Given the description of an element on the screen output the (x, y) to click on. 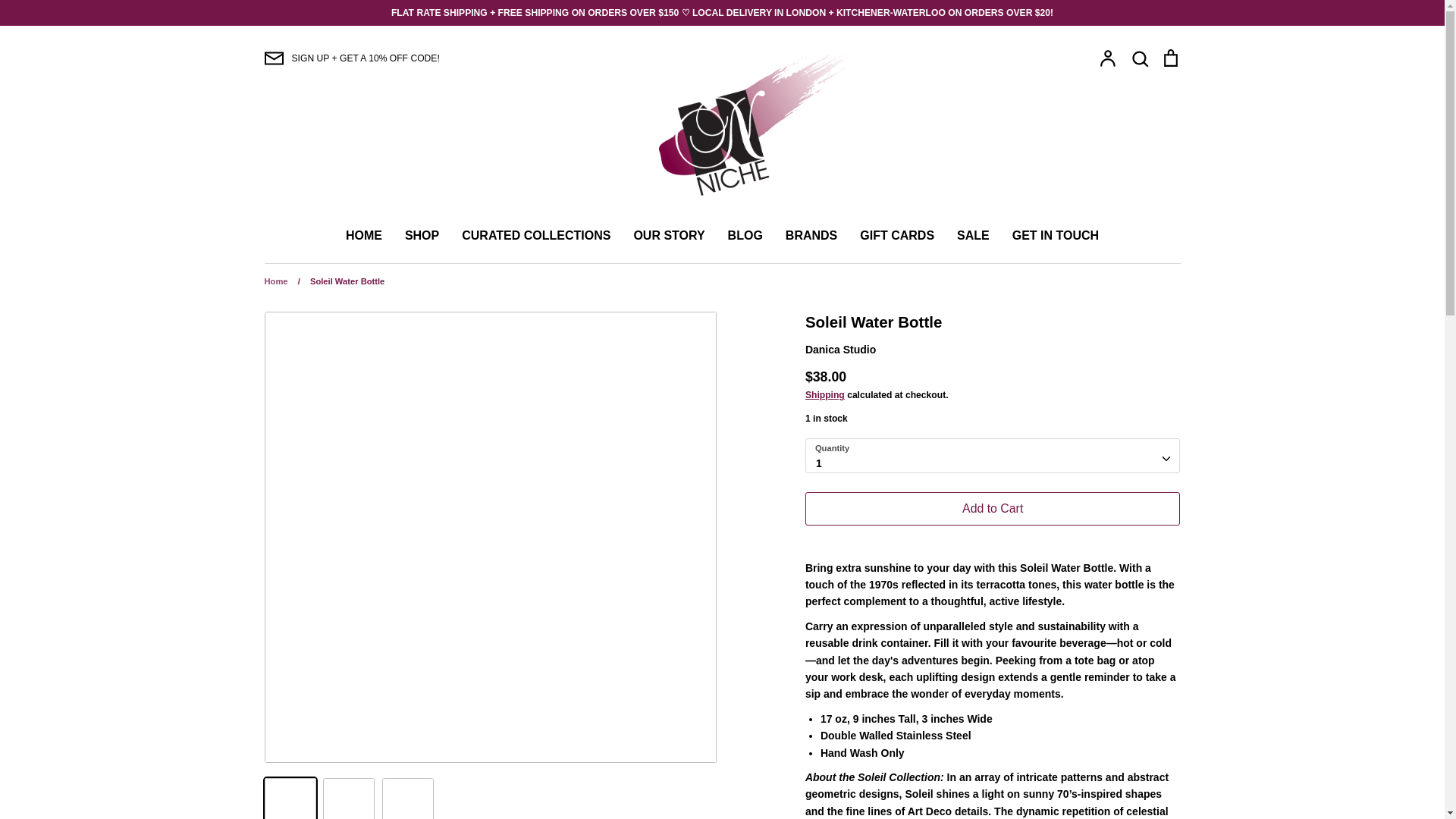
1 (992, 455)
Search (1139, 57)
HOME (363, 235)
SHOP (421, 235)
Cart (1169, 57)
Account (1107, 57)
